Given the description of an element on the screen output the (x, y) to click on. 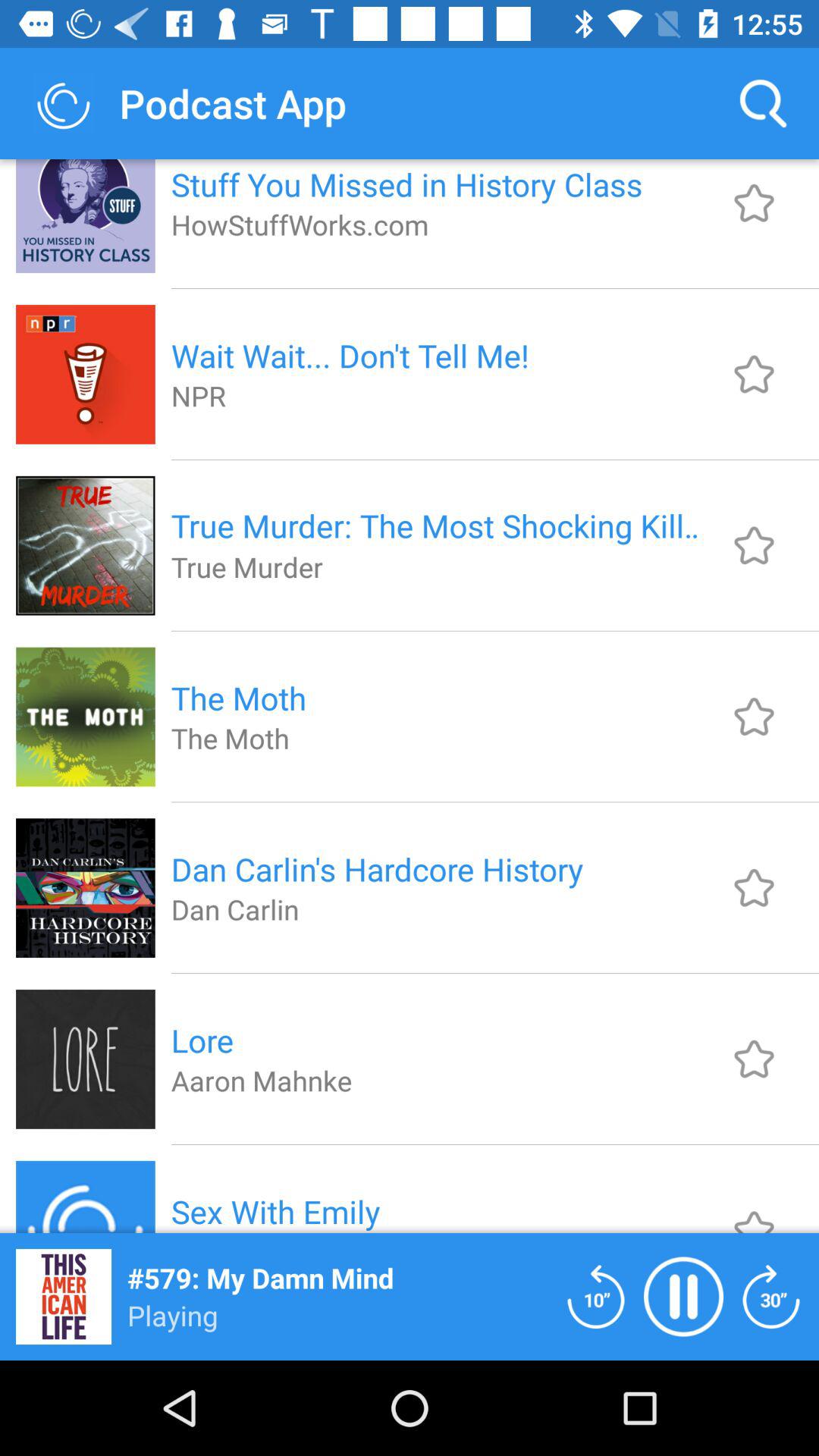
choose the item next to stuff you missed icon (763, 103)
